Given the description of an element on the screen output the (x, y) to click on. 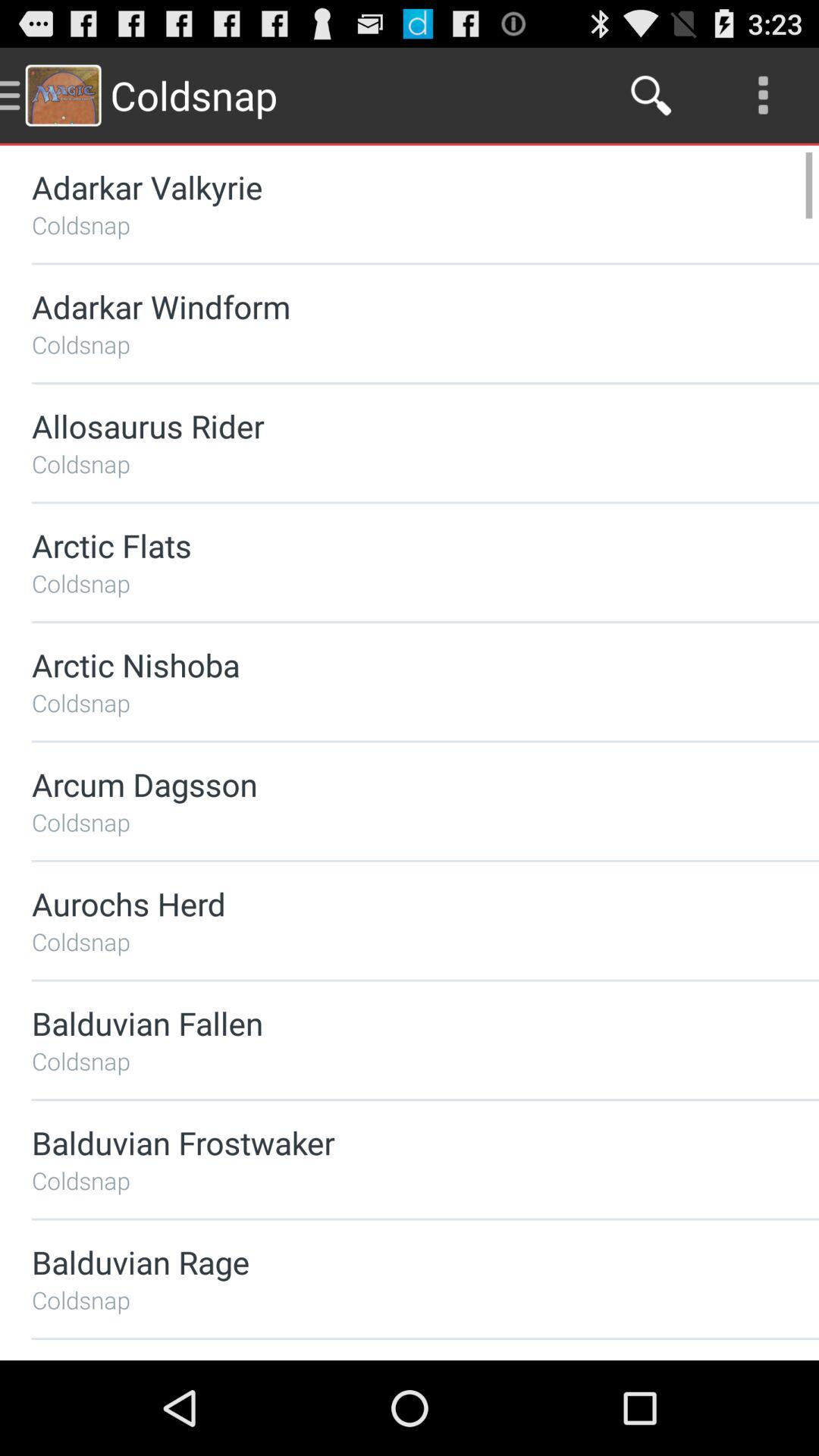
flip until the balduvian warlord icon (385, 1359)
